Given the description of an element on the screen output the (x, y) to click on. 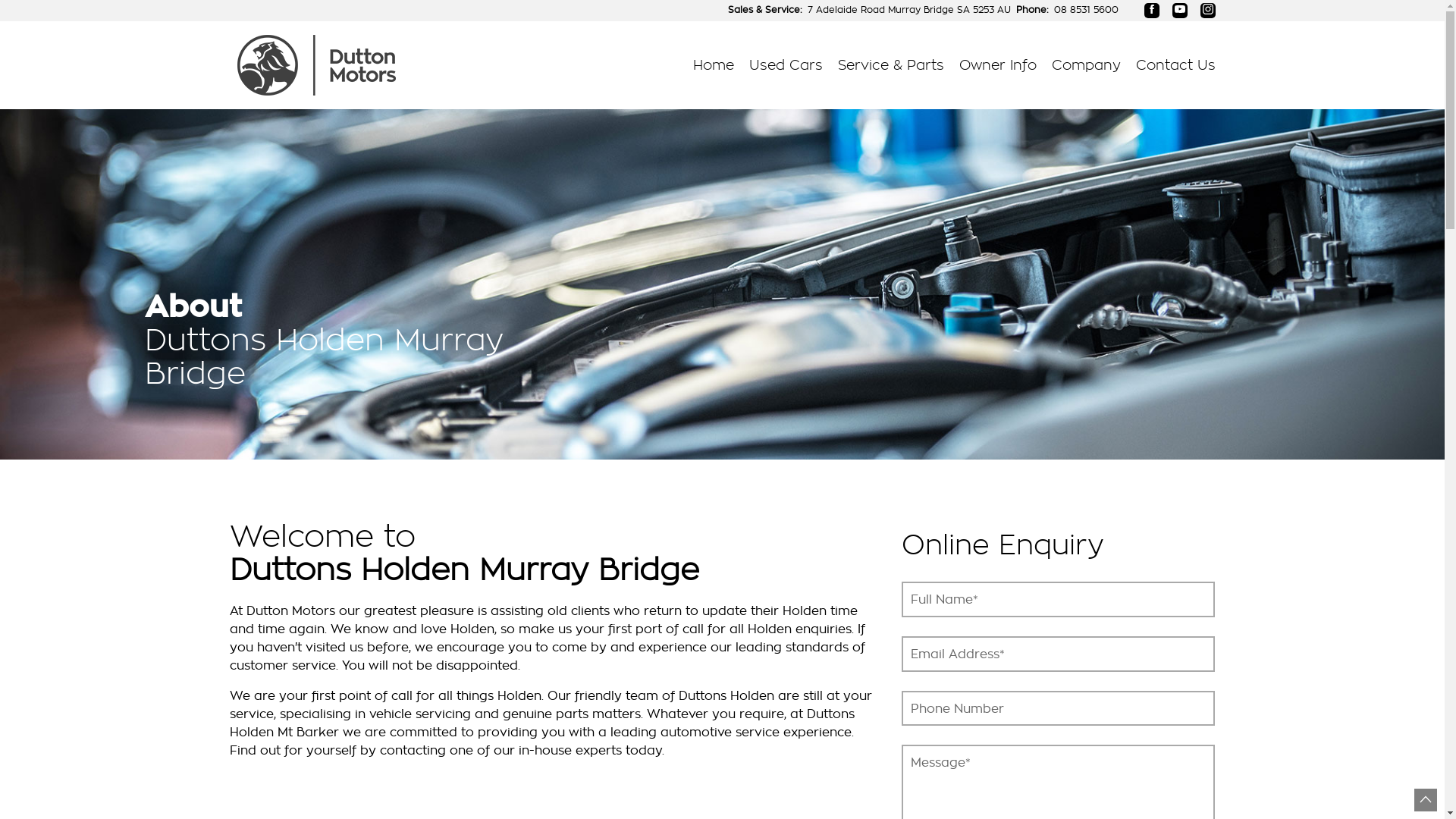
Used Cars Element type: text (785, 64)
Home Element type: text (713, 64)
7 Adelaide Road Murray Bridge SA 5253 AU Element type: text (908, 10)
Company Element type: text (1085, 64)
Service & Parts Element type: text (889, 64)
08 8531 5600 Element type: text (1086, 10)
Owner Info Element type: text (996, 64)
Contact Us Element type: text (1171, 64)
